Given the description of an element on the screen output the (x, y) to click on. 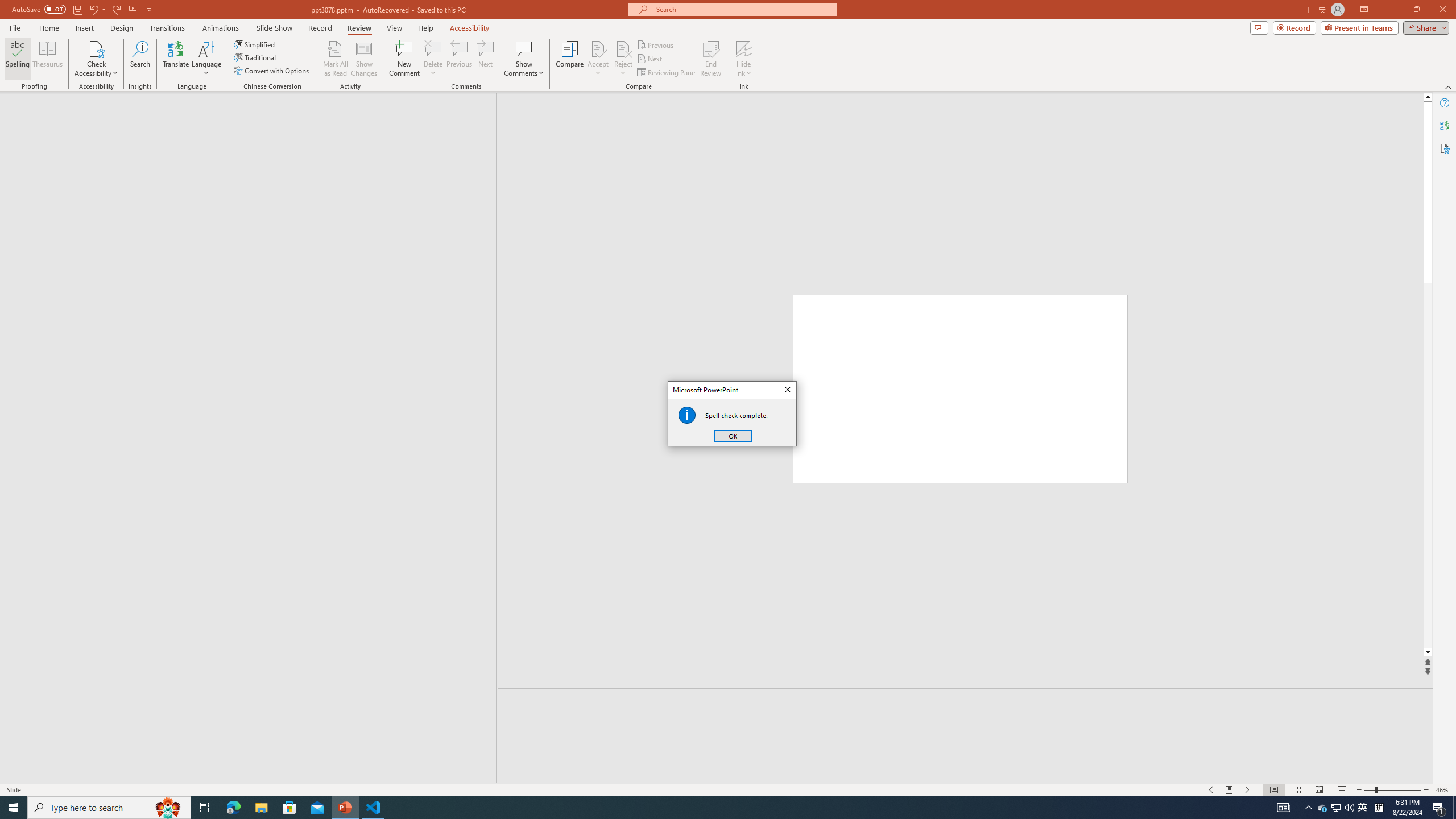
Mark All as Read (335, 58)
View (395, 28)
Line up (1427, 96)
AutomationID: 4105 (1283, 807)
Show desktop (1454, 807)
File Explorer (261, 807)
End Review (710, 58)
Save (77, 9)
Accept (598, 58)
Reviewing Pane (666, 72)
Search (140, 58)
Review (359, 28)
